Given the description of an element on the screen output the (x, y) to click on. 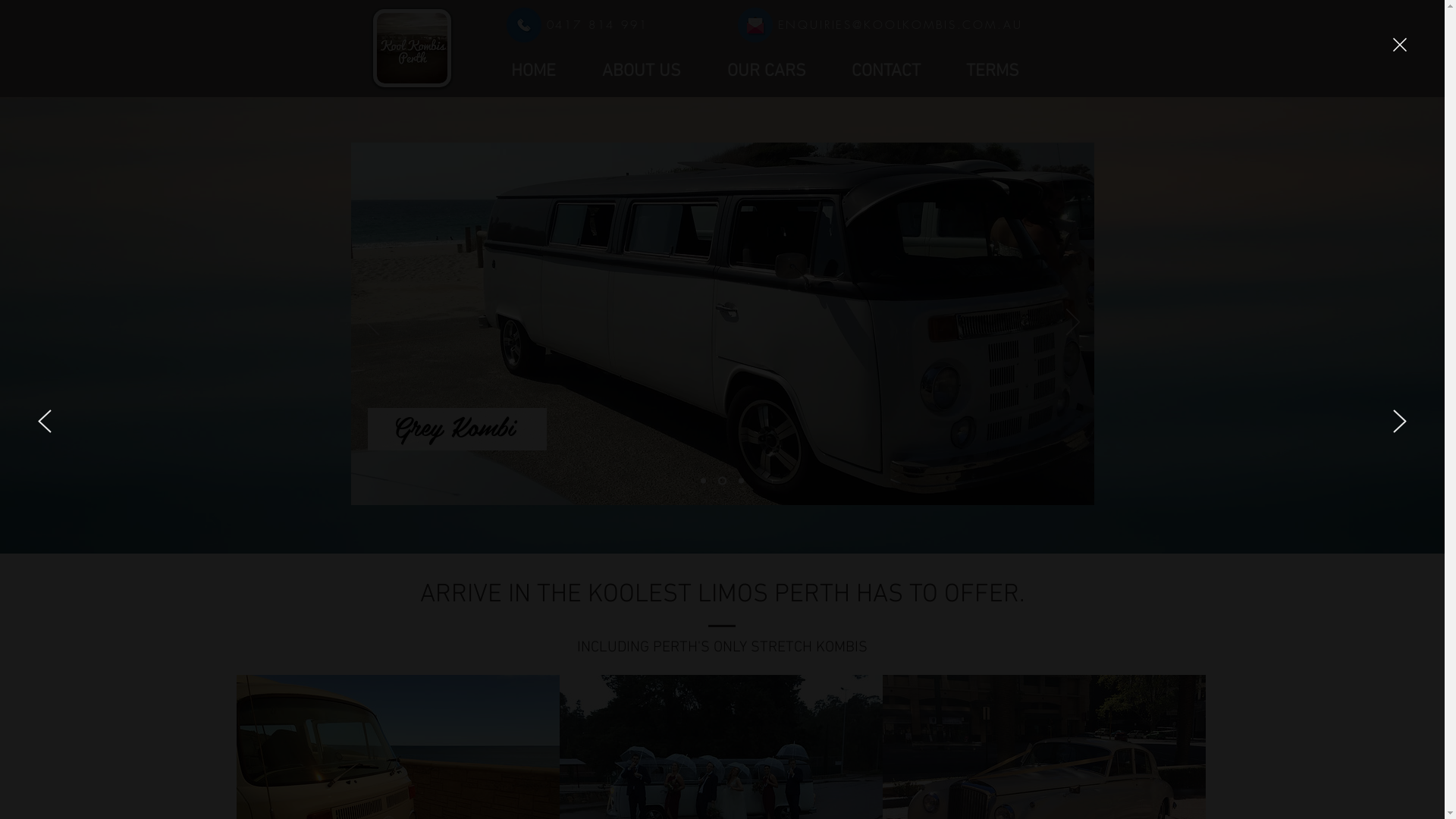
HOME Element type: text (533, 71)
CONTACT Element type: text (885, 71)
ABOUT US Element type: text (641, 71)
0417 814 991 Element type: text (596, 24)
ENQUIRIES@KOOLKOMBIS.COM.AU Element type: text (900, 24)
TERMS Element type: text (992, 71)
OUR CARS Element type: text (765, 71)
